Given the description of an element on the screen output the (x, y) to click on. 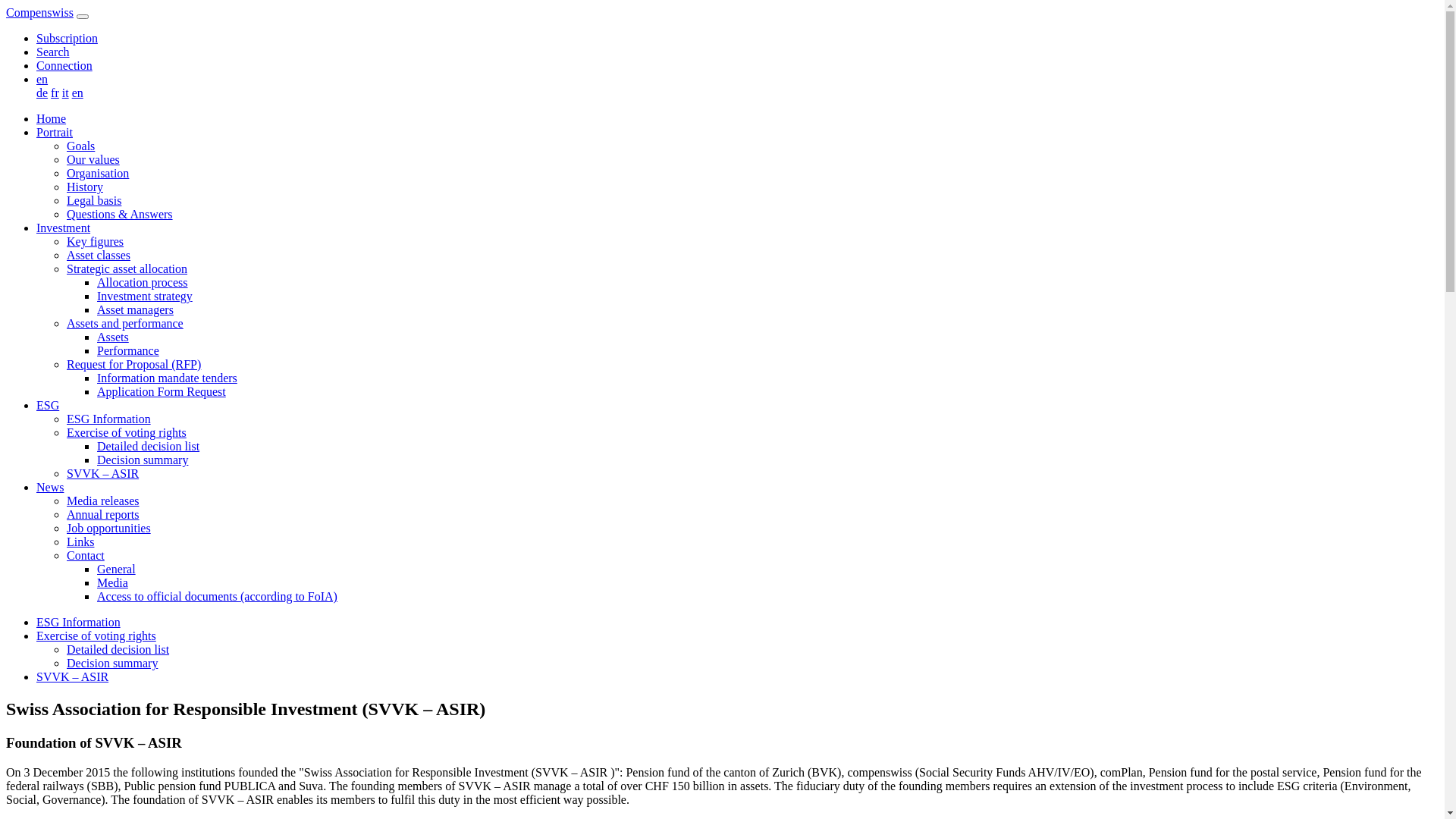
Organisation Element type: text (97, 172)
Connection Element type: text (64, 65)
Search Element type: text (52, 51)
Home Element type: text (50, 118)
Decision summary Element type: text (142, 459)
Subscription Element type: text (66, 37)
Key figures Element type: text (94, 241)
Investment Element type: text (63, 227)
en Element type: text (41, 78)
Media releases Element type: text (102, 500)
Request for Proposal (RFP) Element type: text (133, 363)
History Element type: text (84, 186)
Performance Element type: text (128, 350)
Assets Element type: text (112, 336)
Media Element type: text (112, 582)
Contact Element type: text (85, 555)
Assets and performance Element type: text (124, 322)
de Element type: text (41, 92)
Questions & Answers Element type: text (119, 213)
ESG Information Element type: text (108, 418)
Goals Element type: text (80, 145)
News Element type: text (49, 486)
Application Form Request Element type: text (161, 391)
Strategic asset allocation Element type: text (126, 268)
Portrait Element type: text (54, 131)
Links Element type: text (80, 541)
ESG Information Element type: text (78, 621)
Job opportunities Element type: text (108, 527)
Access to official documents (according to FoIA) Element type: text (217, 595)
Decision summary Element type: text (111, 662)
en Element type: text (77, 92)
Legal basis Element type: text (93, 200)
Allocation process Element type: text (142, 282)
Exercise of voting rights Element type: text (96, 635)
Compenswiss Element type: text (39, 12)
Asset classes Element type: text (98, 254)
Information mandate tenders Element type: text (167, 377)
ESG Element type: text (47, 404)
fr Element type: text (54, 92)
Investment strategy Element type: text (144, 295)
Asset managers Element type: text (135, 309)
Detailed decision list Element type: text (117, 649)
Our values Element type: text (92, 159)
Detailed decision list Element type: text (148, 445)
it Element type: text (65, 92)
Annual reports Element type: text (102, 514)
Exercise of voting rights Element type: text (126, 432)
General Element type: text (116, 568)
